Given the description of an element on the screen output the (x, y) to click on. 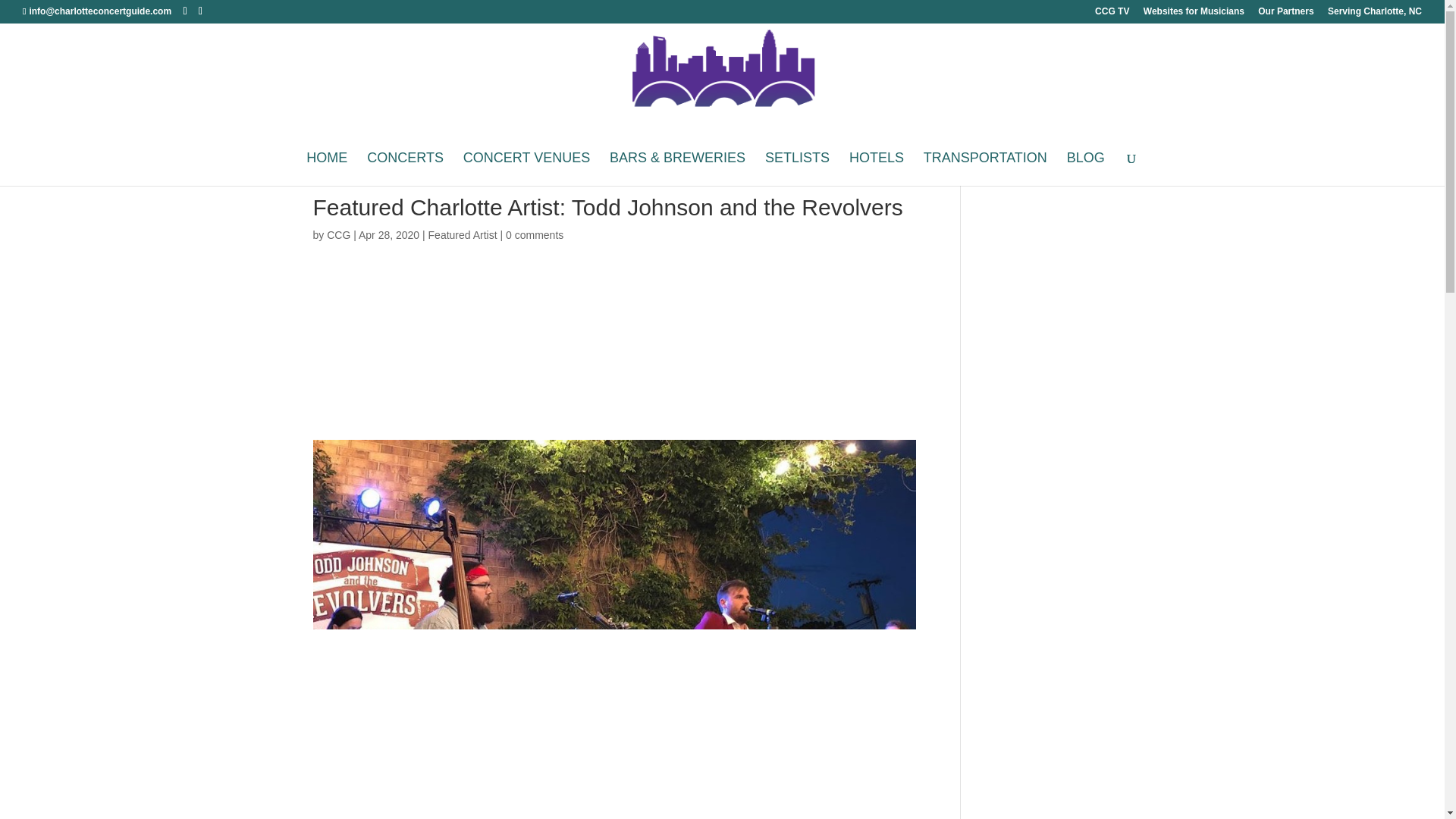
Posts by CCG (338, 234)
0 comments (534, 234)
CCG TV (1111, 14)
CONCERTS (405, 168)
SETLISTS (797, 168)
CCG (338, 234)
Websites for Musicians (1193, 14)
Featured Artist (462, 234)
BLOG (1086, 168)
Our Partners (1285, 14)
